Given the description of an element on the screen output the (x, y) to click on. 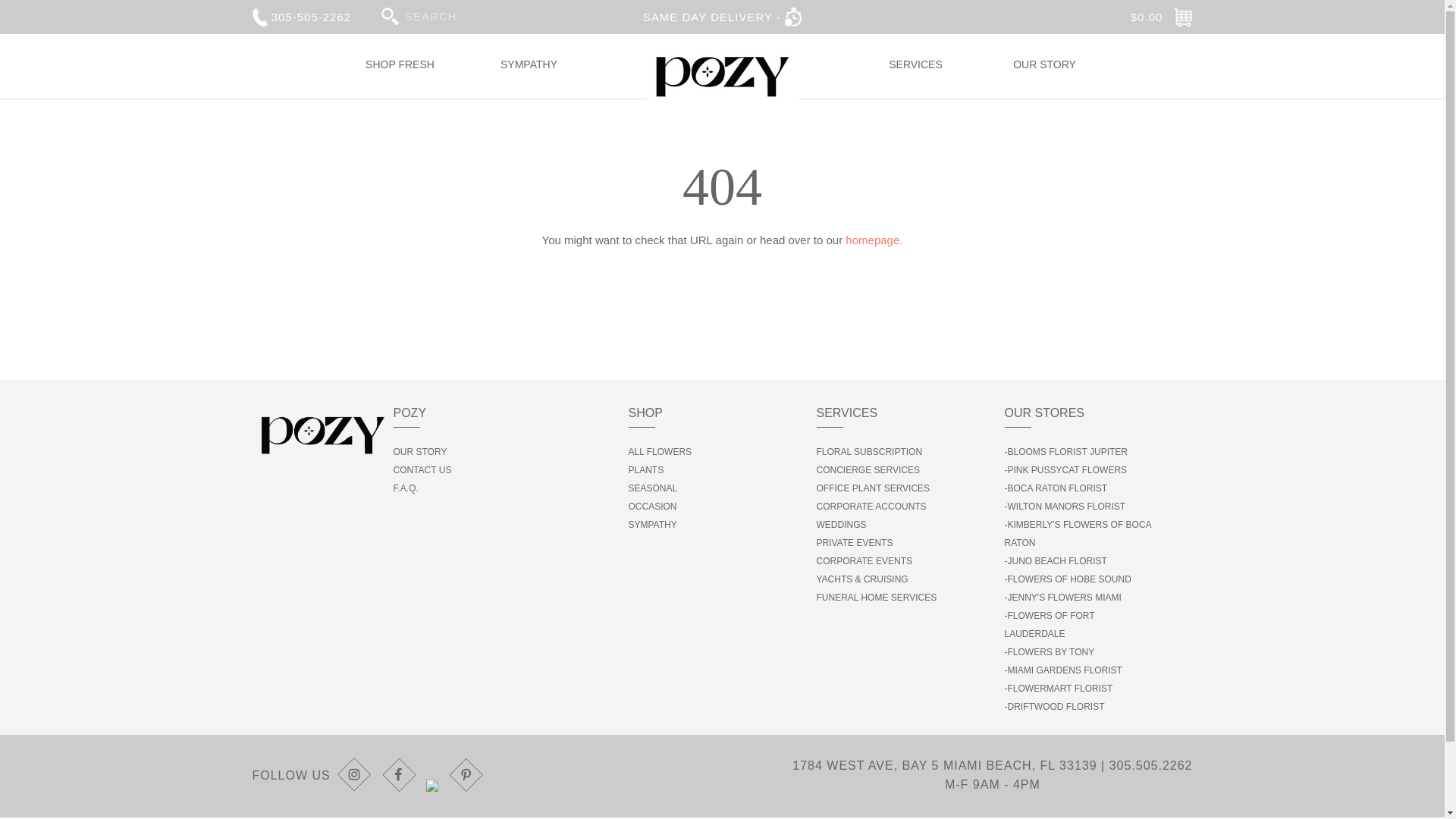
Search (389, 15)
Pinterest (465, 775)
Instagram (356, 775)
Click to Call (1150, 765)
305-505-2262 (300, 16)
SHOP FRESH (399, 78)
Tik Tok (434, 775)
Pozy (721, 74)
Facebook (400, 775)
